Given the description of an element on the screen output the (x, y) to click on. 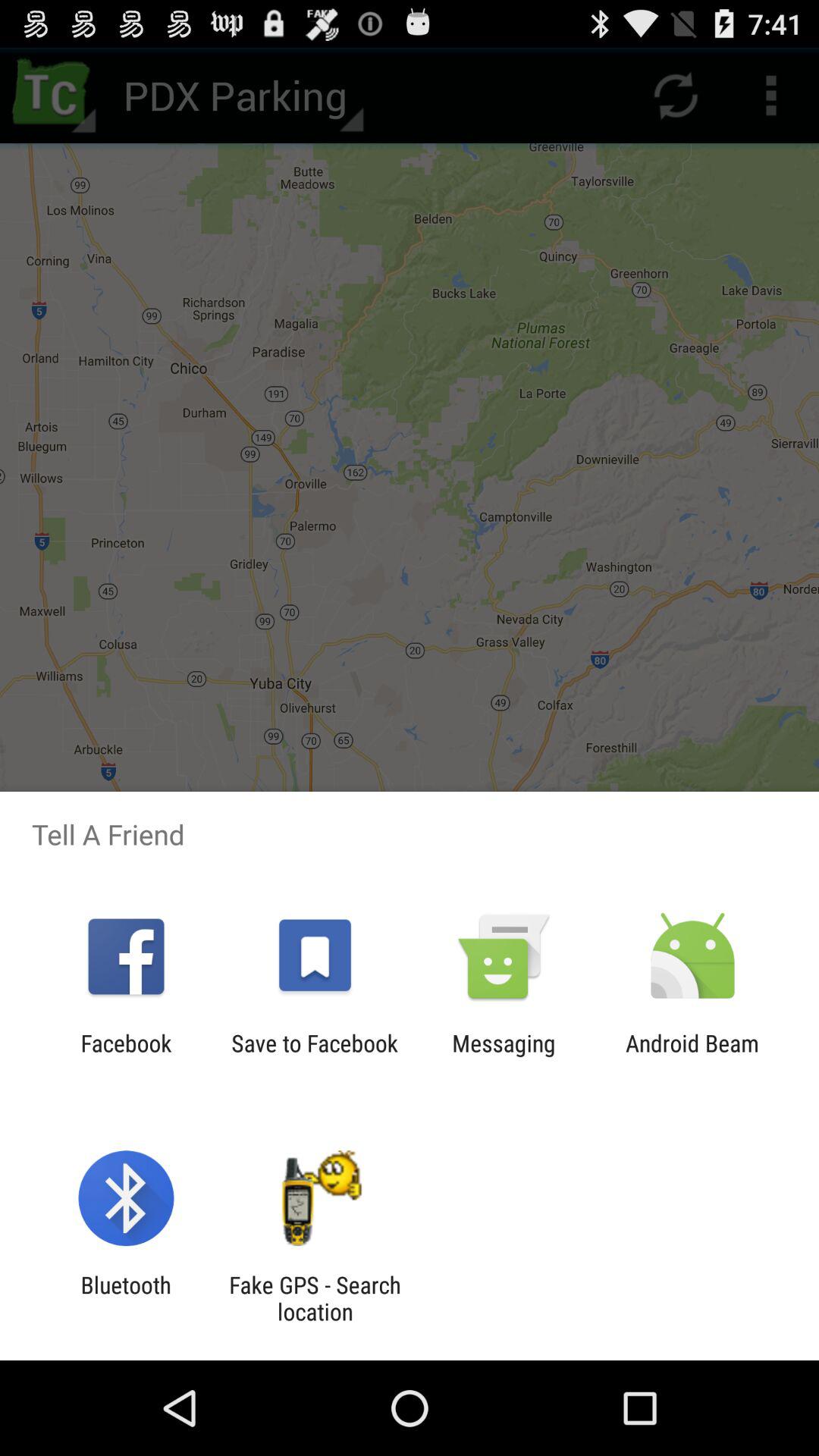
click messaging (503, 1056)
